Given the description of an element on the screen output the (x, y) to click on. 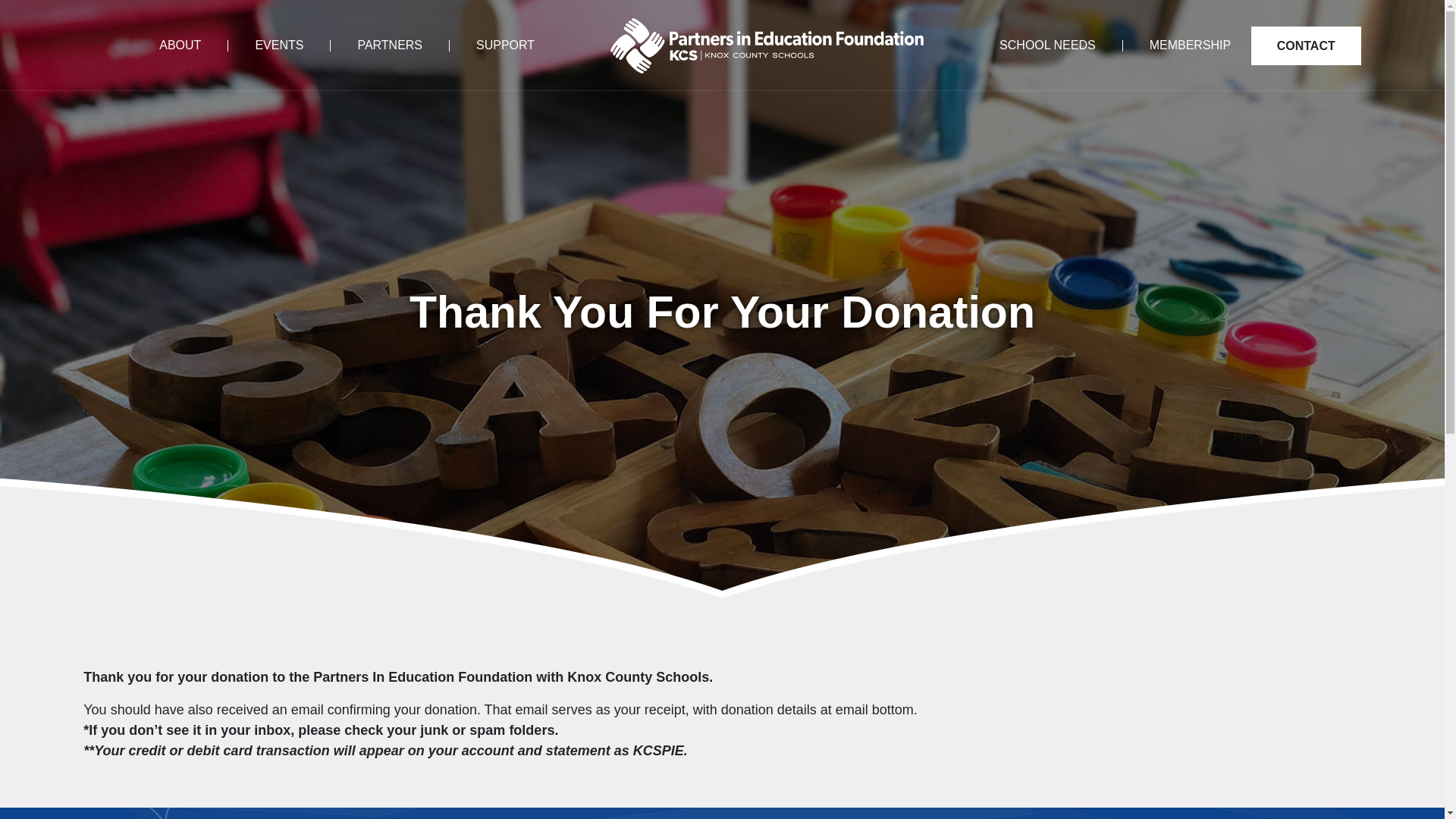
School Needs (1060, 45)
PARTNERS (389, 45)
About (192, 45)
SUPPORT (491, 45)
ABOUT (192, 45)
Partners (389, 45)
Support (491, 45)
MEMBERSHIP (1176, 45)
SCHOOL NEEDS (1060, 45)
Partners in Education Foundation (766, 45)
Events (279, 45)
EVENTS (279, 45)
CONTACT (1305, 45)
Membership (1176, 45)
